Given the description of an element on the screen output the (x, y) to click on. 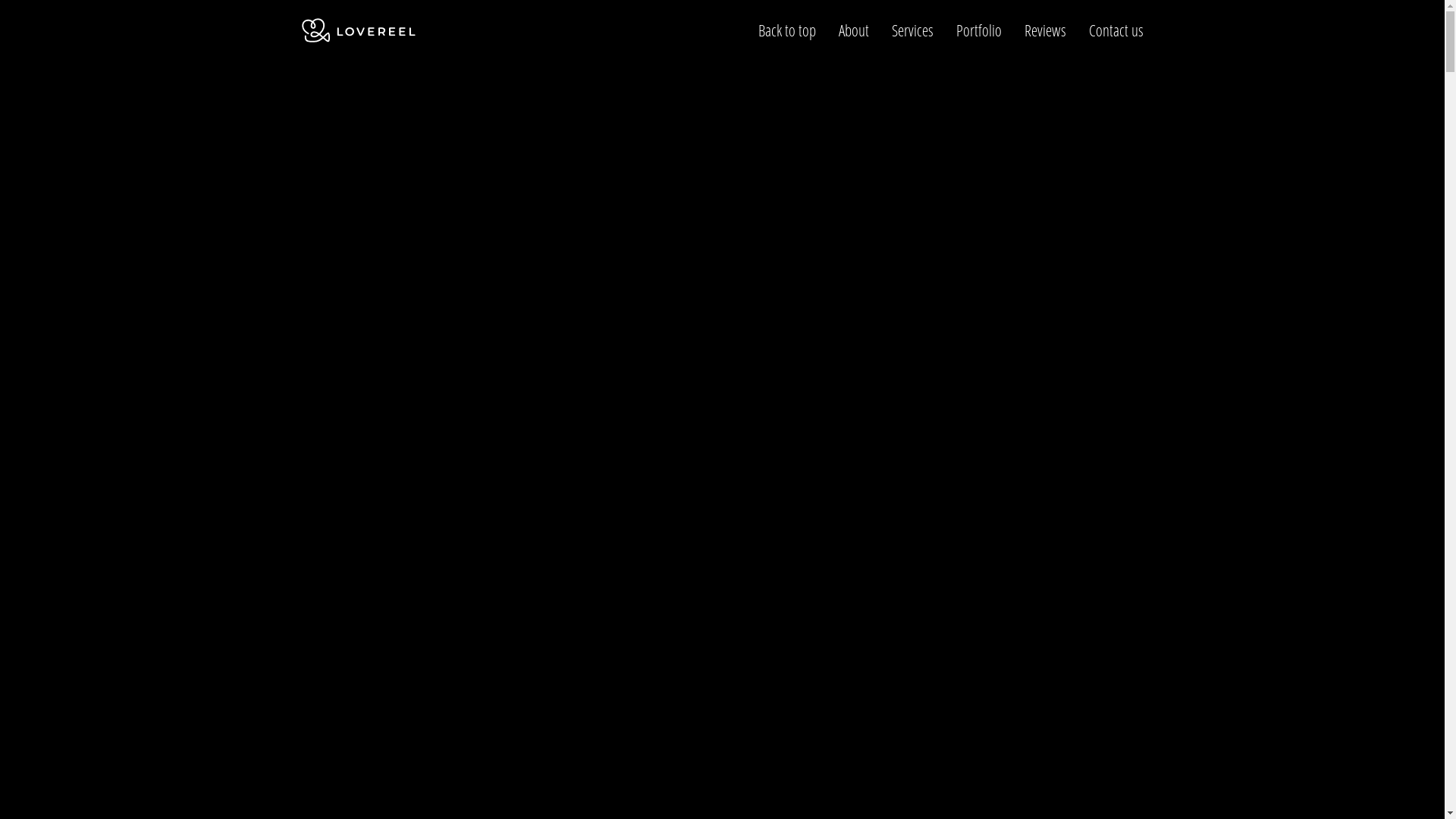
Back to top Element type: text (786, 30)
Contact us Element type: text (1115, 30)
Reviews Element type: text (1044, 30)
About Element type: text (853, 30)
Services Element type: text (912, 30)
Portfolio Element type: text (978, 30)
